Given the description of an element on the screen output the (x, y) to click on. 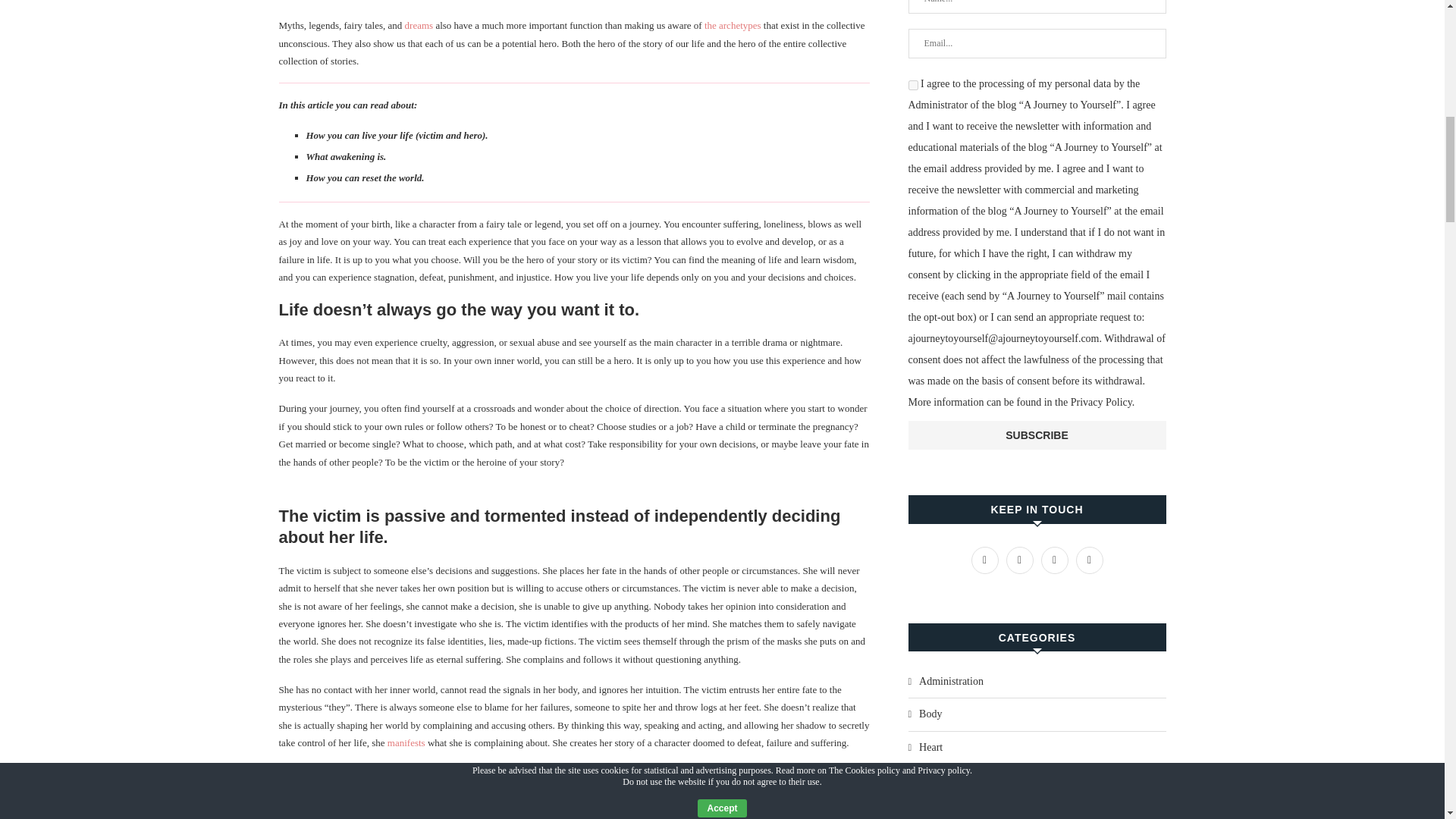
Subscribe (1037, 434)
1 (913, 85)
